Given the description of an element on the screen output the (x, y) to click on. 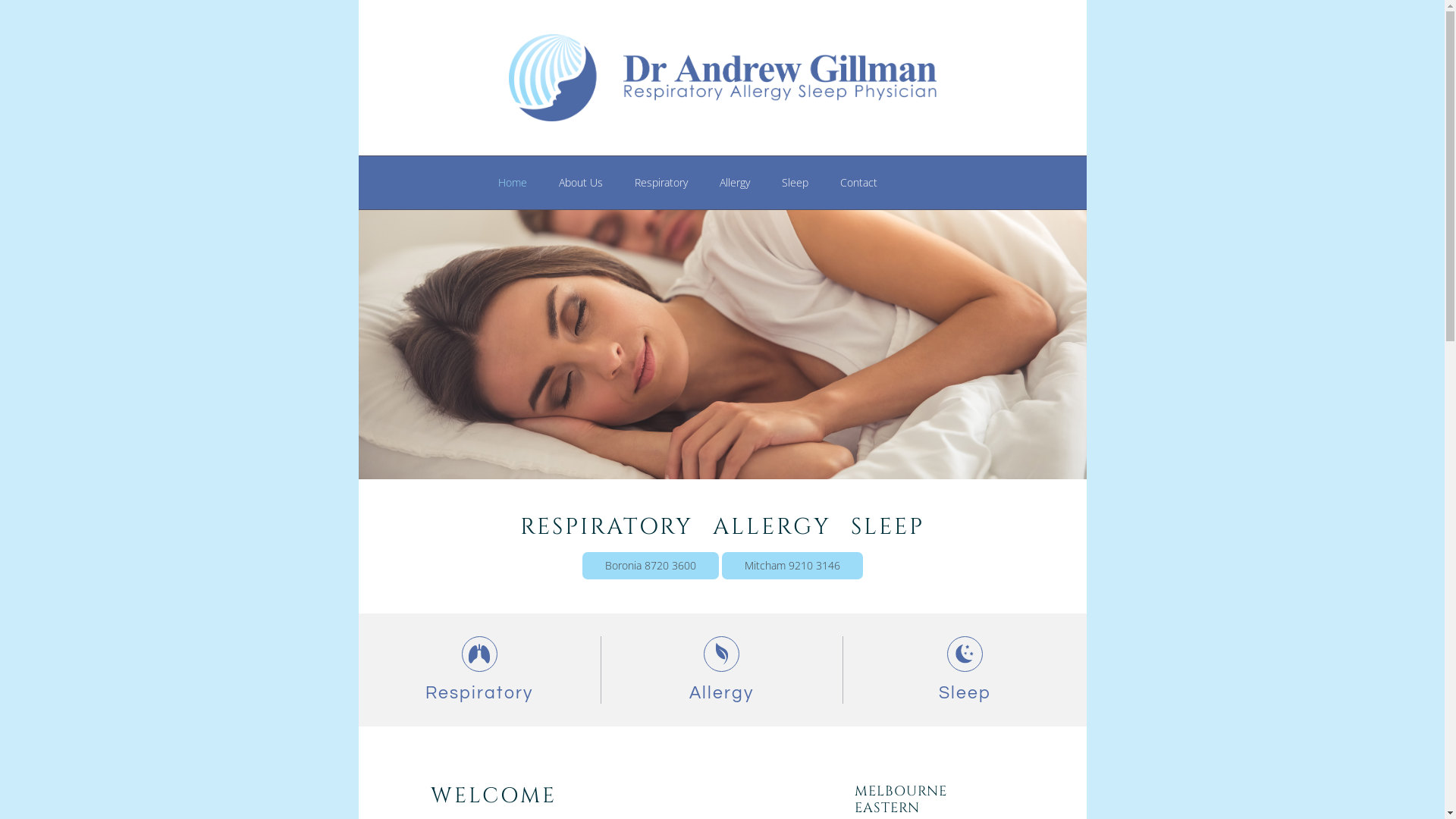
Home Element type: text (512, 182)
Boronia 8720 3600 Element type: text (650, 565)
Contact Element type: text (857, 182)
Mitcham 9210 3146 Element type: text (791, 565)
Sleep Element type: text (964, 670)
Sleep Element type: text (794, 182)
Return to homepage Element type: hover (722, 77)
About Us Element type: text (580, 182)
Allergy Element type: text (734, 182)
Respiratory Element type: text (479, 670)
Respiratory Element type: text (660, 182)
Allergy Element type: text (721, 670)
